Given the description of an element on the screen output the (x, y) to click on. 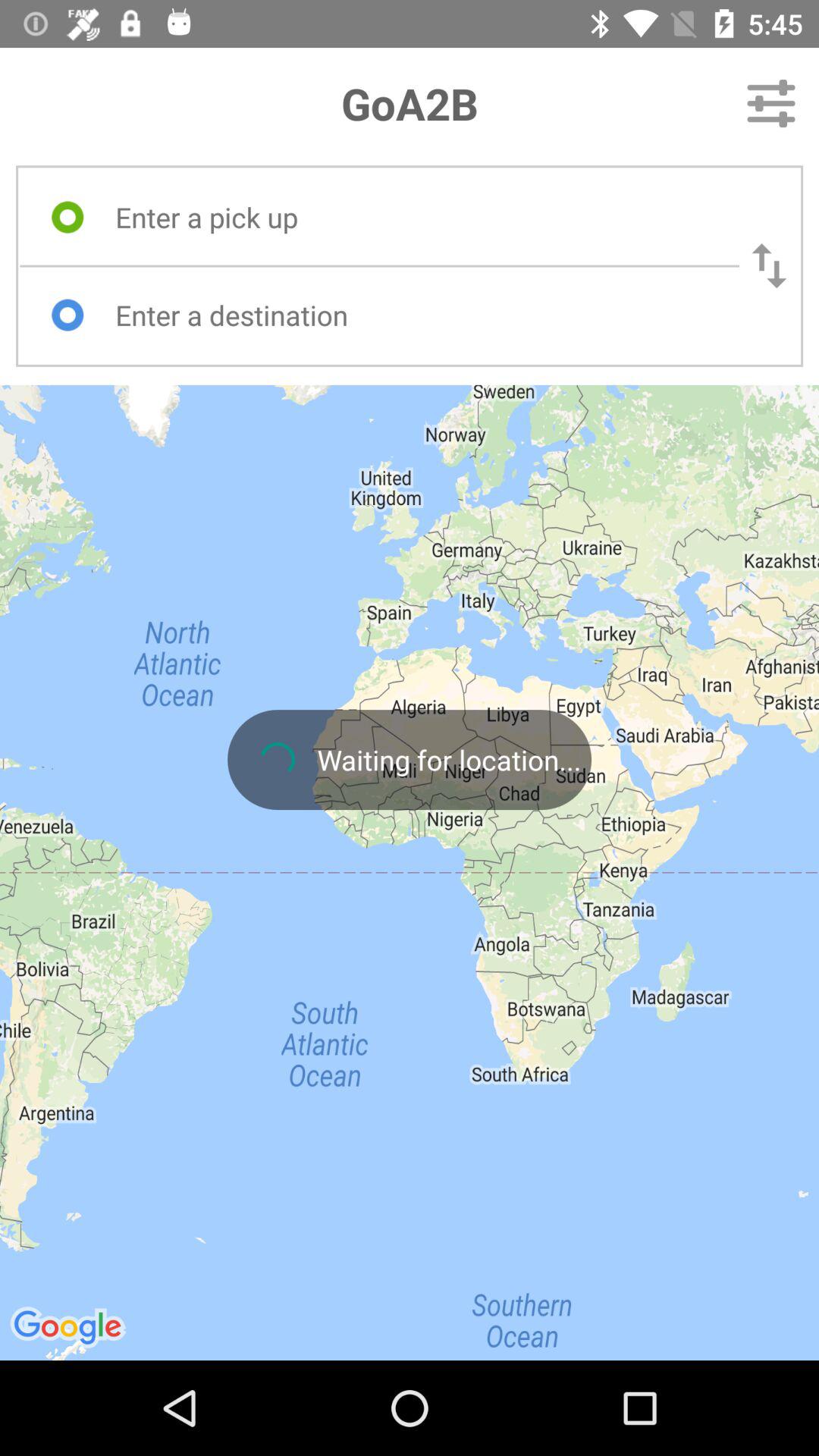
enter destination box (413, 314)
